Given the description of an element on the screen output the (x, y) to click on. 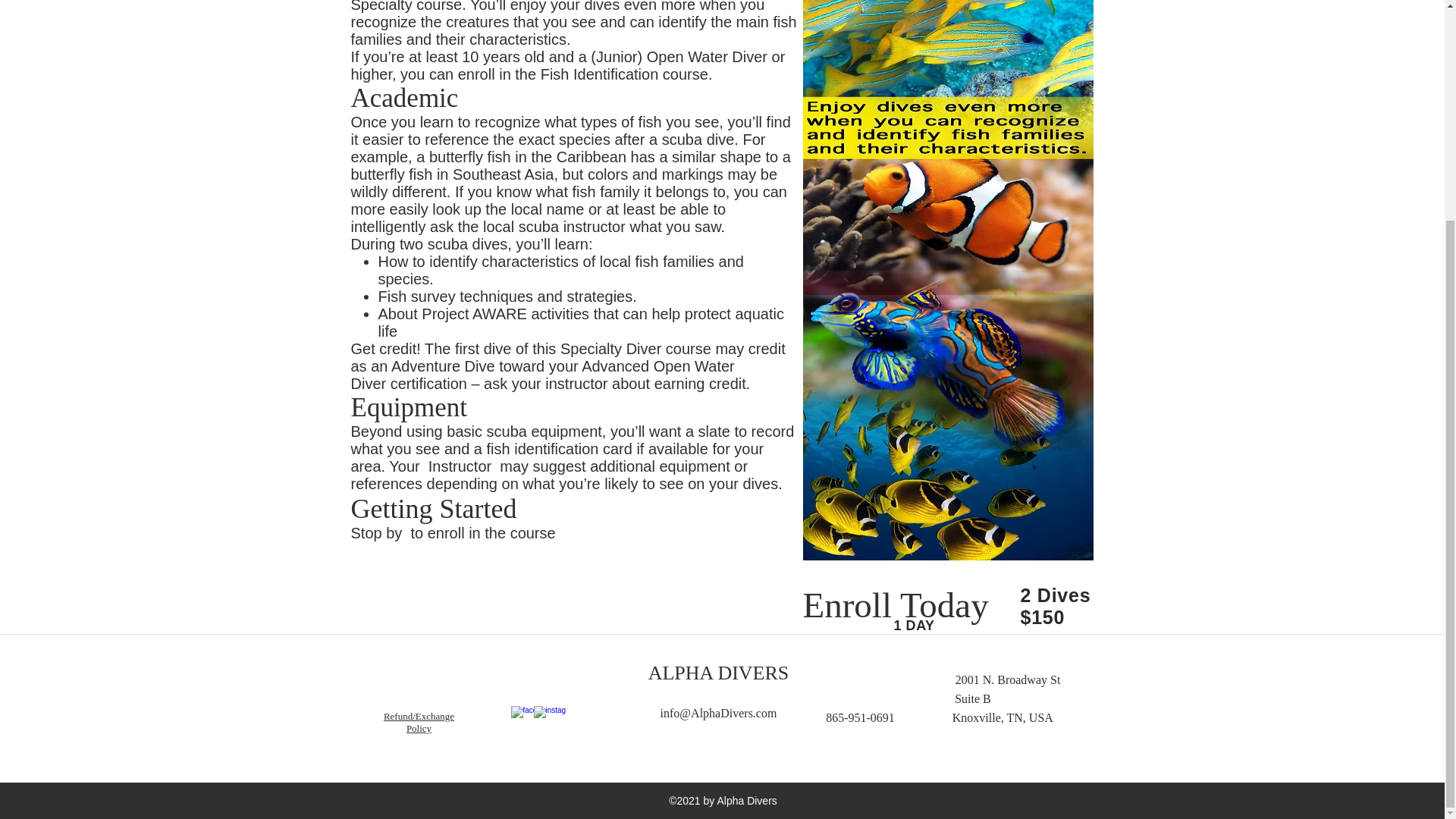
basic scuba equipment (524, 431)
Advanced Open Water Diver (541, 374)
865-951-0691 (860, 717)
 Specialty Diver course (633, 348)
